Given the description of an element on the screen output the (x, y) to click on. 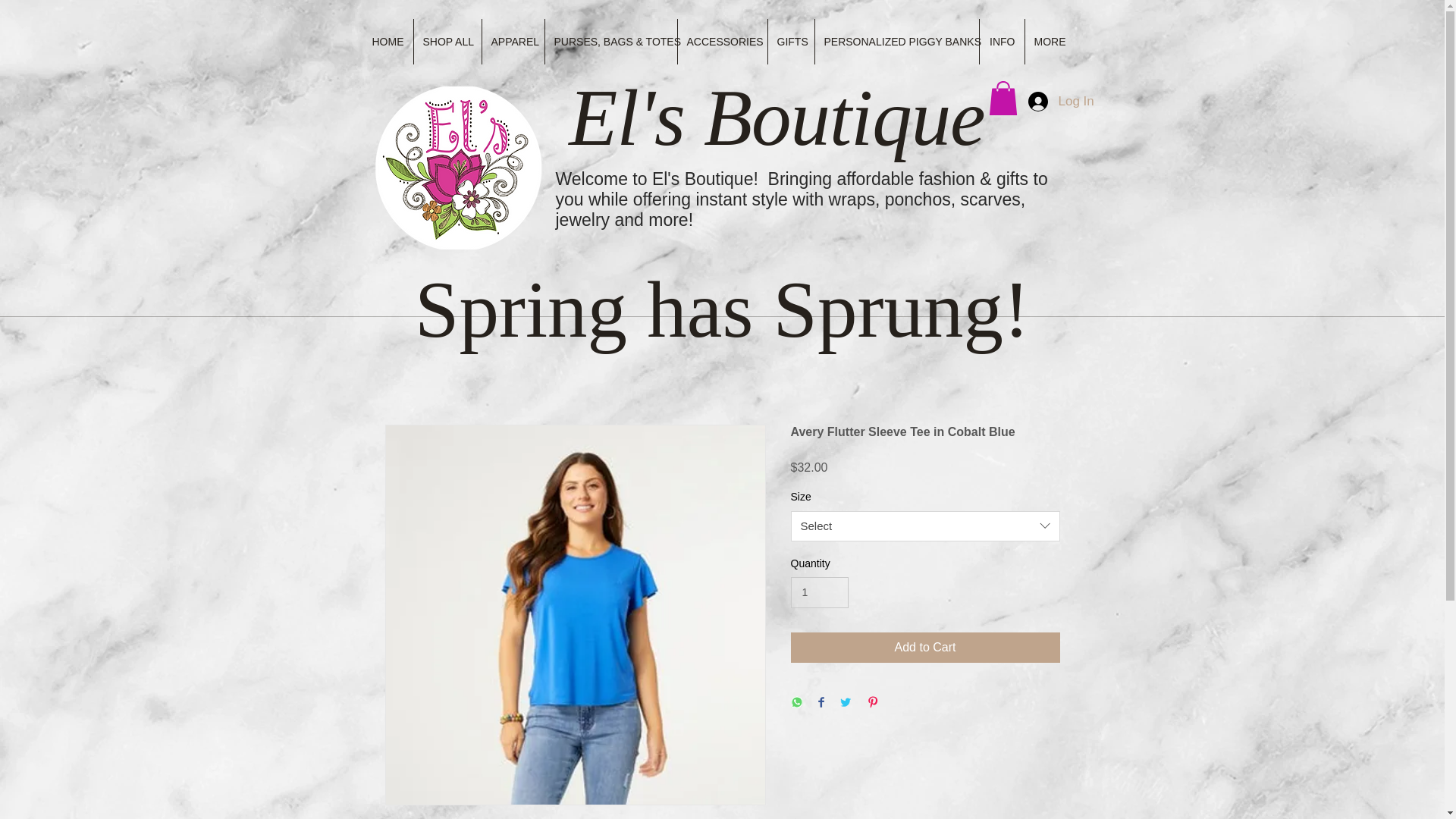
APPAREL (512, 41)
INFO (1002, 41)
PERSONALIZED PIGGY BANKS (895, 41)
Select (924, 526)
GIFTS (790, 41)
Log In (1049, 100)
1 (818, 592)
HOME (386, 41)
ACCESSORIES (722, 41)
SHOP ALL (447, 41)
Add to Cart (924, 647)
